Given the description of an element on the screen output the (x, y) to click on. 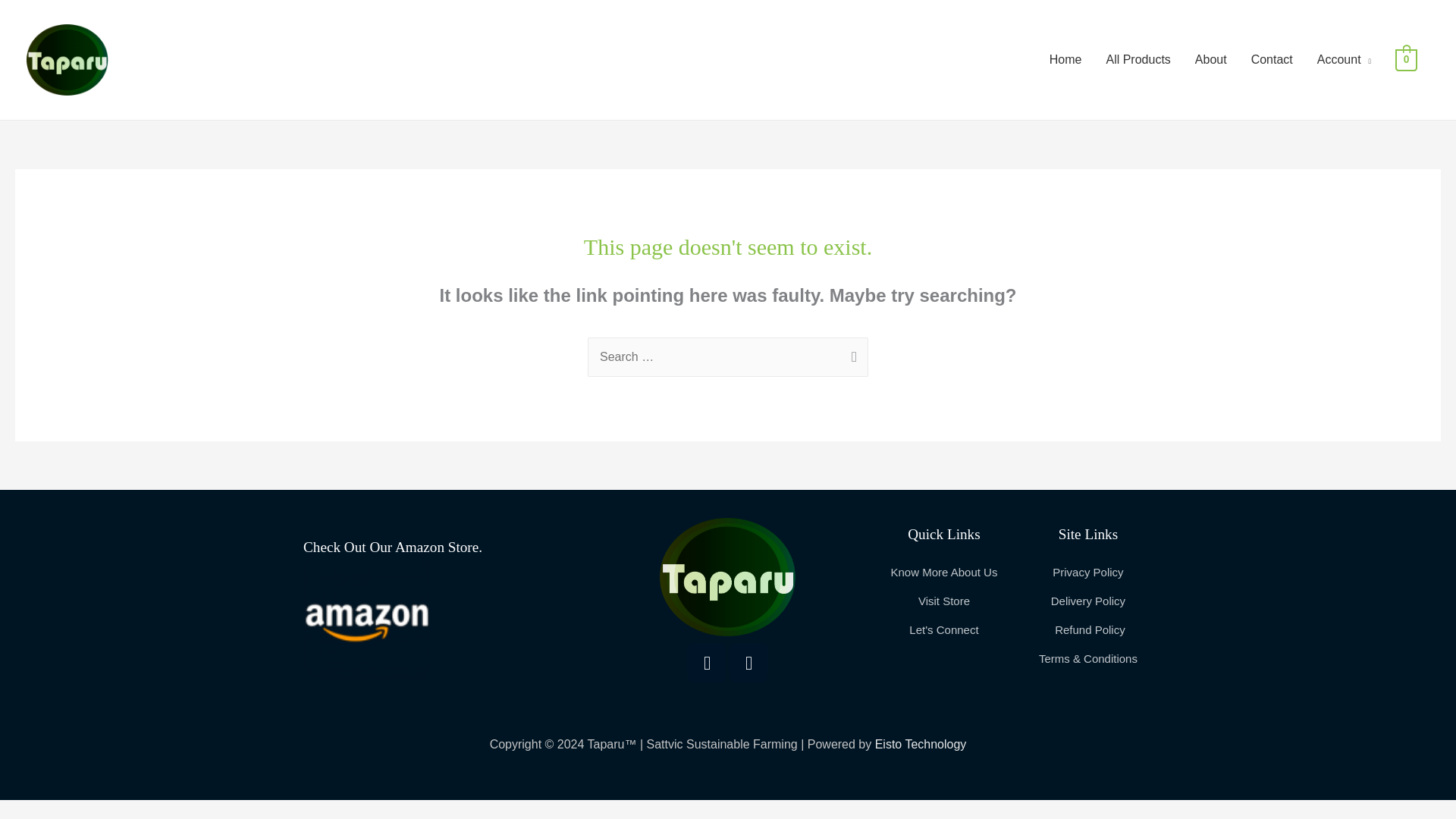
Home (1065, 60)
amazon-black-icon-16 (365, 616)
Refund Policy (1088, 629)
Contact (1271, 60)
Eisto Technology (920, 744)
0 (1405, 59)
Visit Store (944, 600)
Let'S Connect (944, 629)
